Given the description of an element on the screen output the (x, y) to click on. 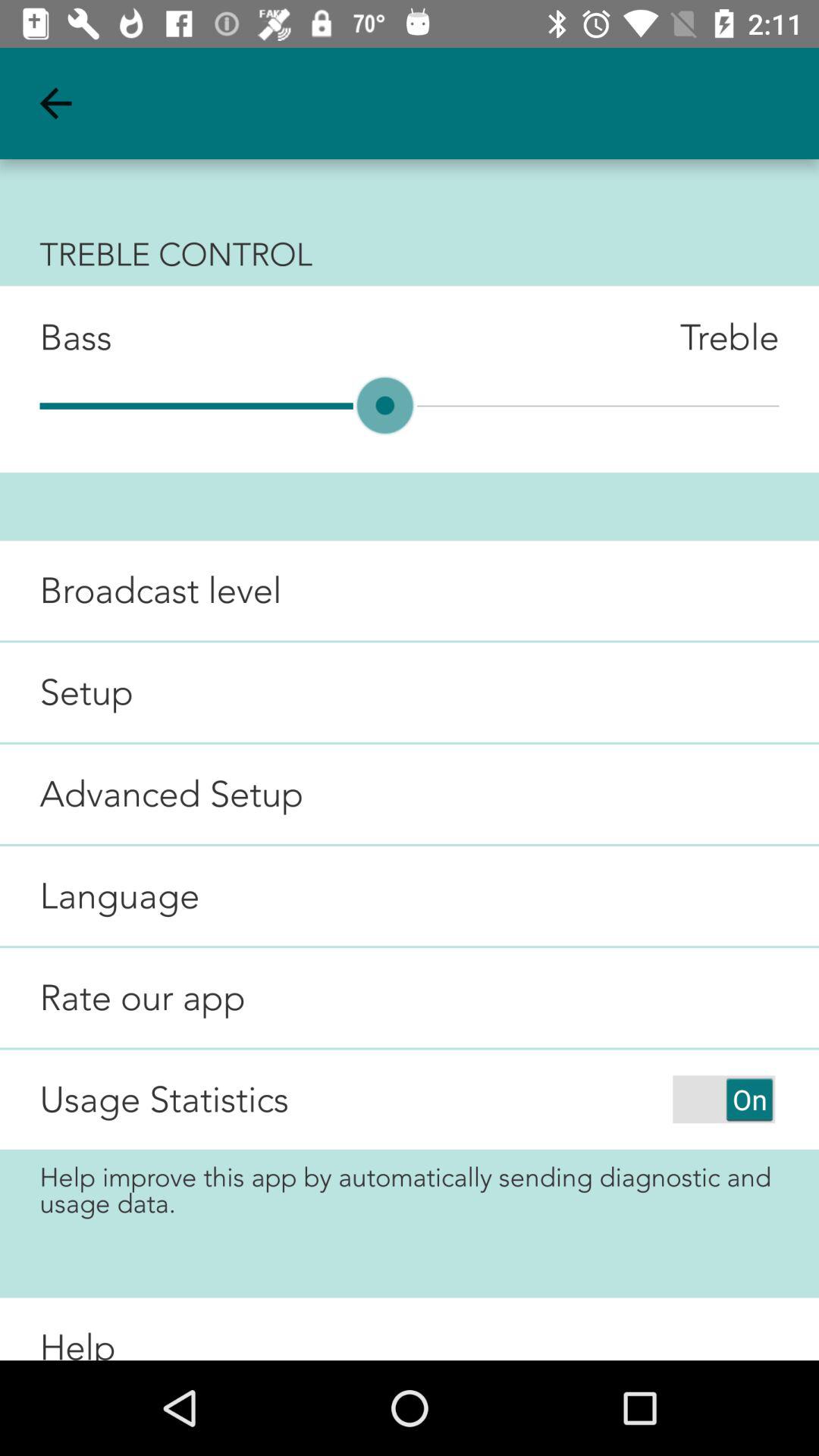
open broadcast level icon (140, 590)
